Given the description of an element on the screen output the (x, y) to click on. 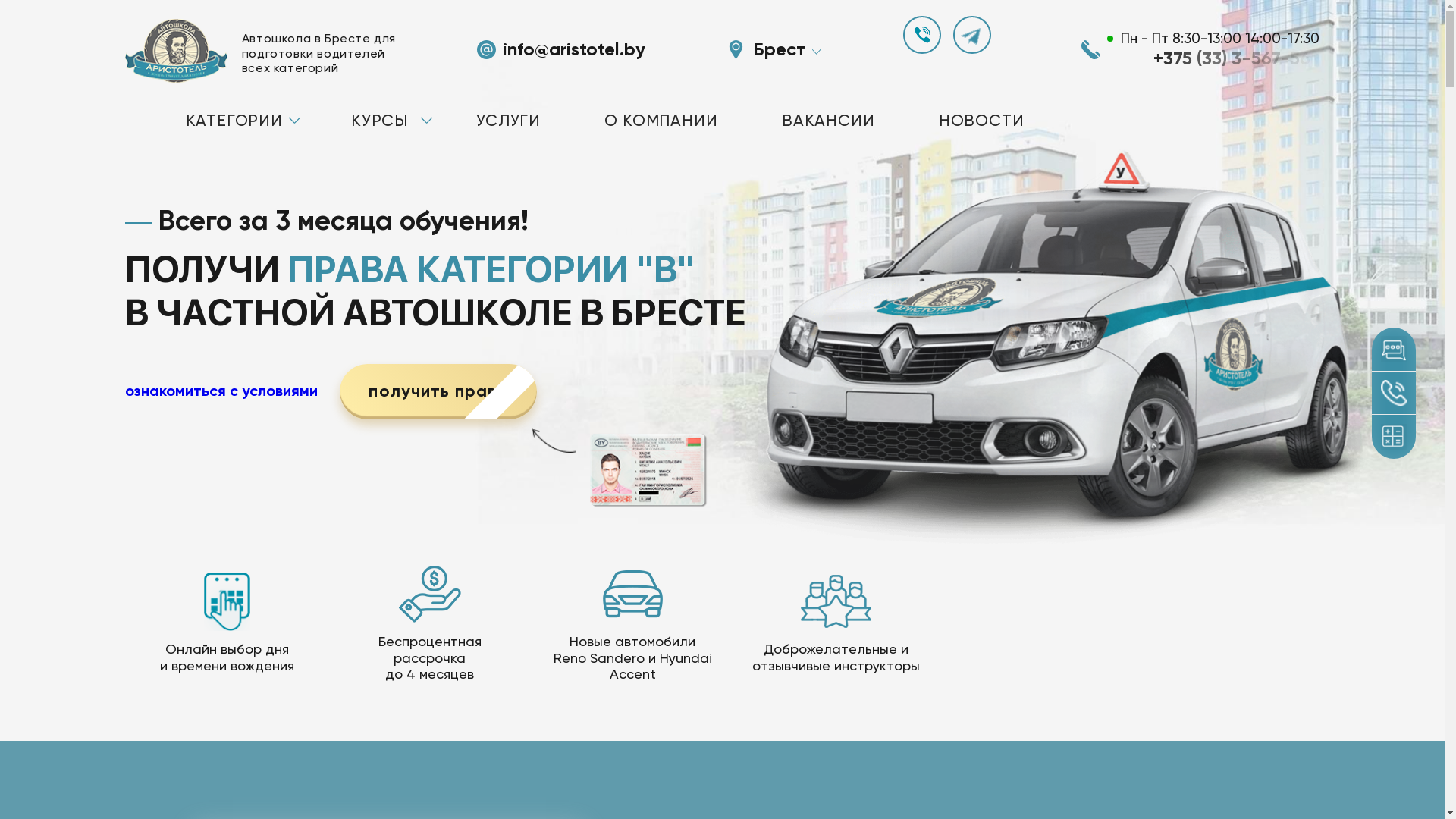
+375 (33) 3-567-56 Element type: text (1236, 58)
info@aristotel.by Element type: text (573, 49)
